Given the description of an element on the screen output the (x, y) to click on. 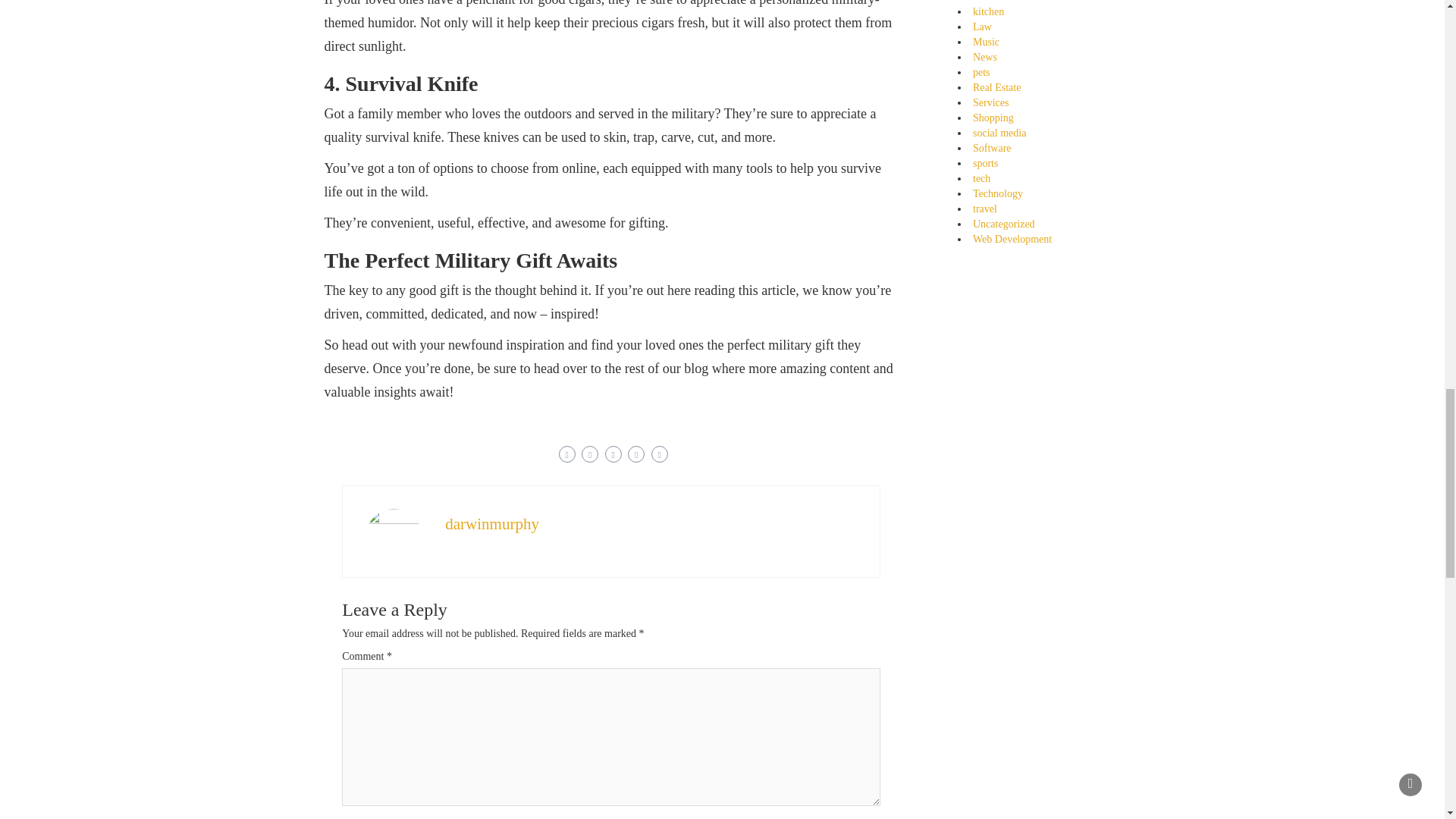
darwinmurphy (491, 524)
